Given the description of an element on the screen output the (x, y) to click on. 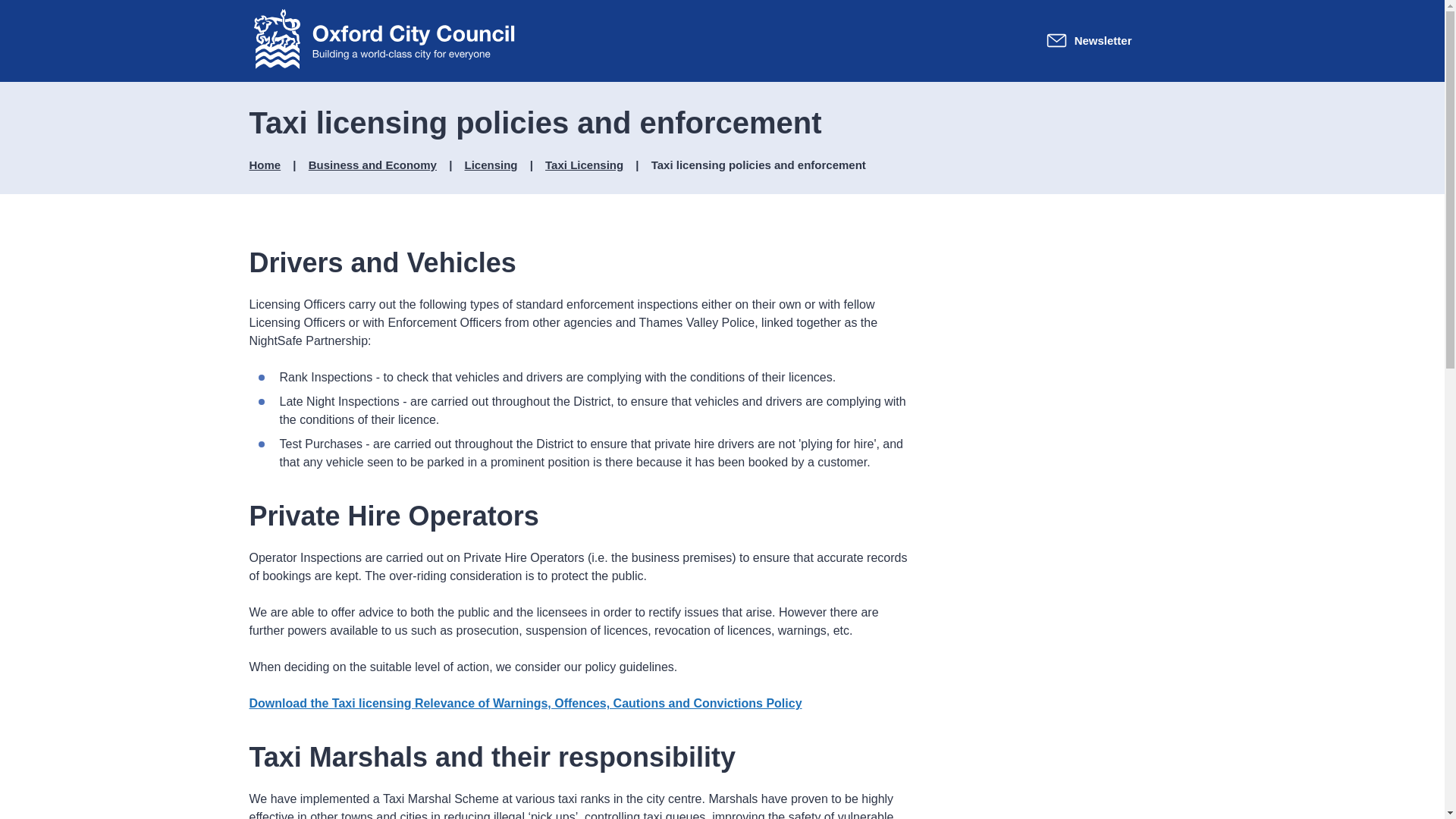
Business and Economy (372, 165)
Taxi Licensing (583, 165)
Home (264, 165)
Newsletter (1089, 40)
Licensing (490, 165)
